Given the description of an element on the screen output the (x, y) to click on. 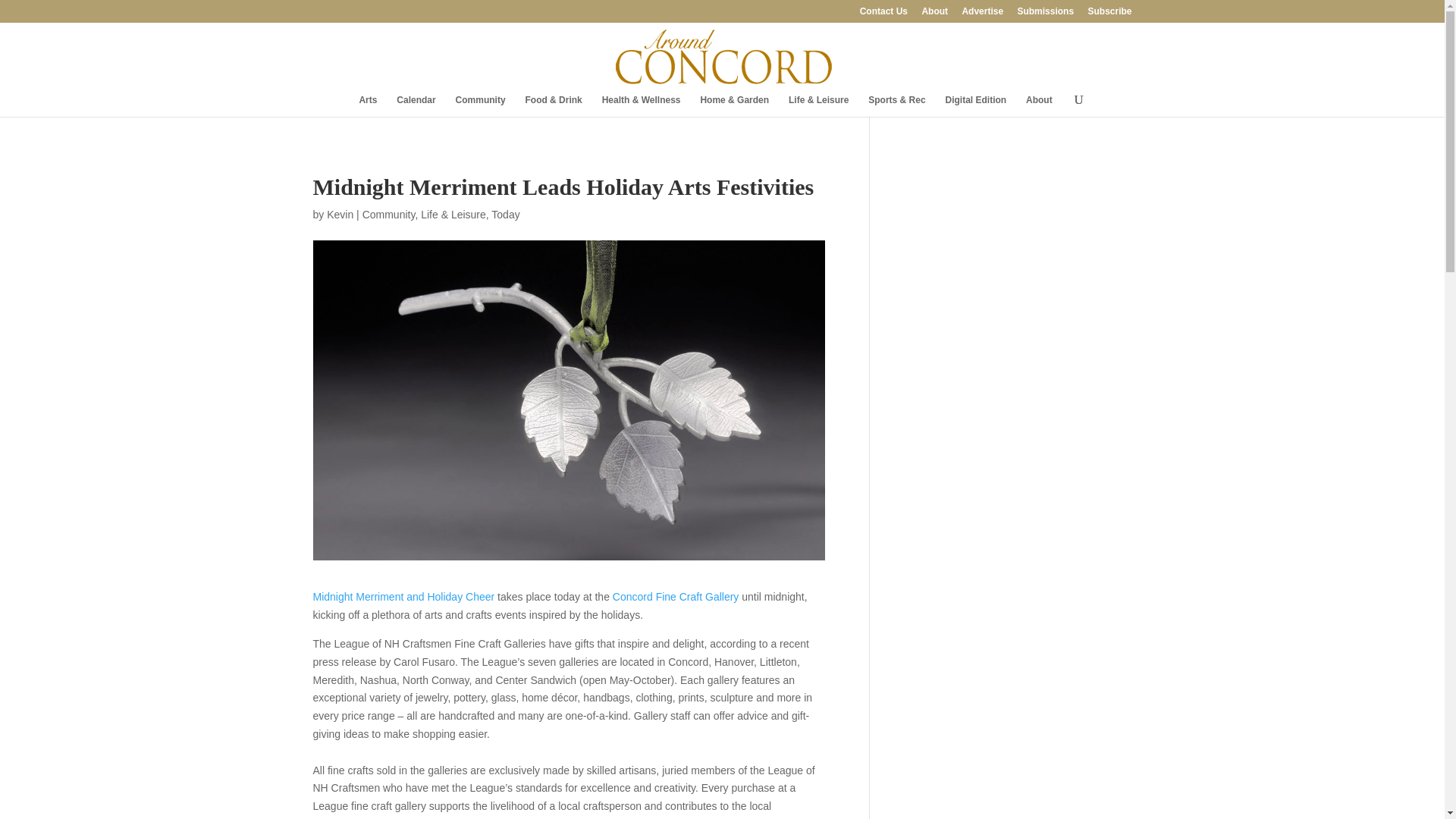
Subscribe (1109, 14)
Submissions (1045, 14)
Calendar (415, 106)
About (934, 14)
Posts by Kevin (339, 214)
About (1039, 106)
Advertise (981, 14)
Contact Us (883, 14)
Midnight Merriment and Holiday Cheer (404, 596)
Today (505, 214)
